Given the description of an element on the screen output the (x, y) to click on. 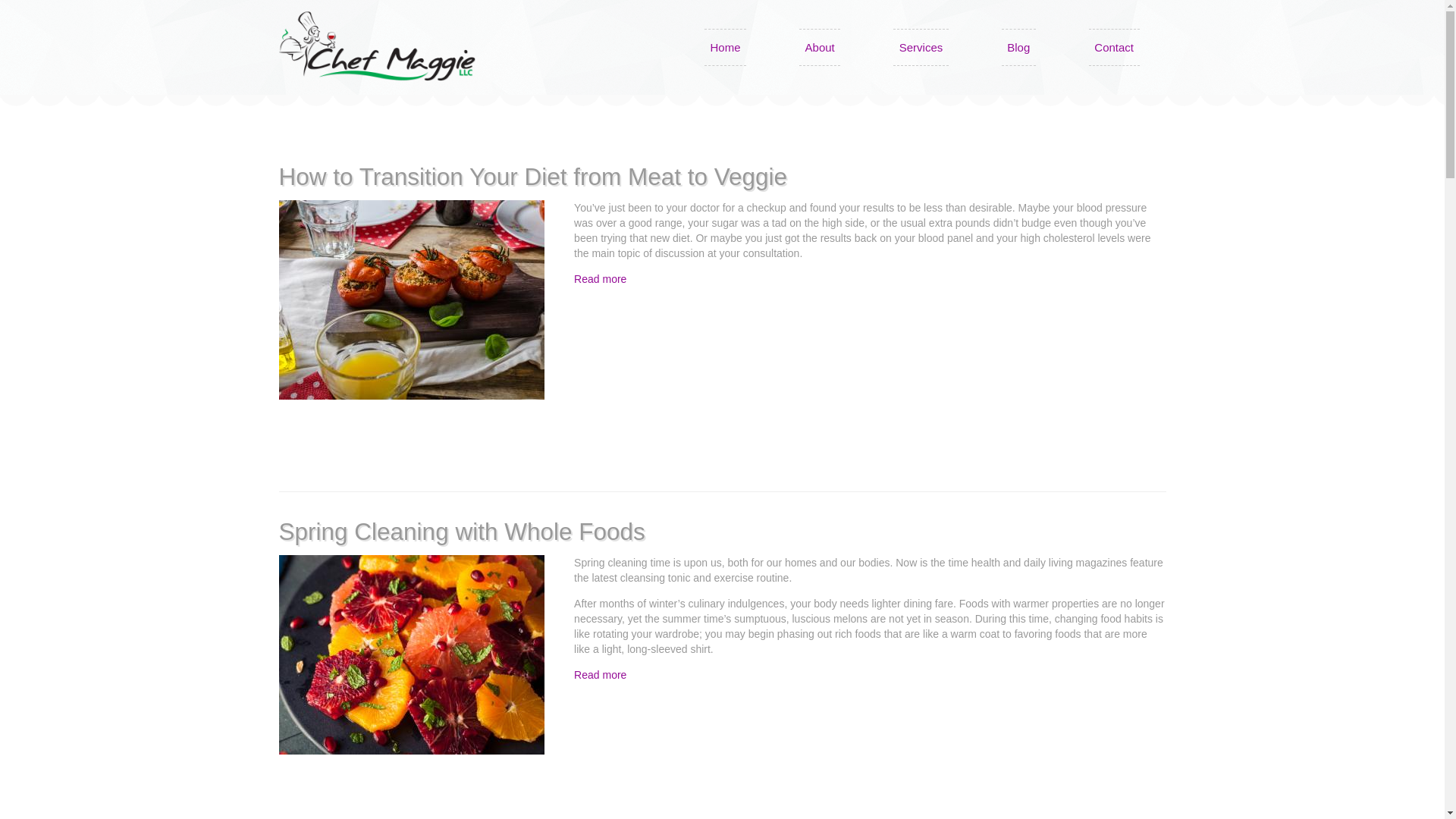
Home (724, 47)
Read more (599, 278)
About (819, 47)
Services (921, 47)
Home (377, 46)
Blog (1018, 47)
Contact (1114, 47)
Read more (599, 674)
